Given the description of an element on the screen output the (x, y) to click on. 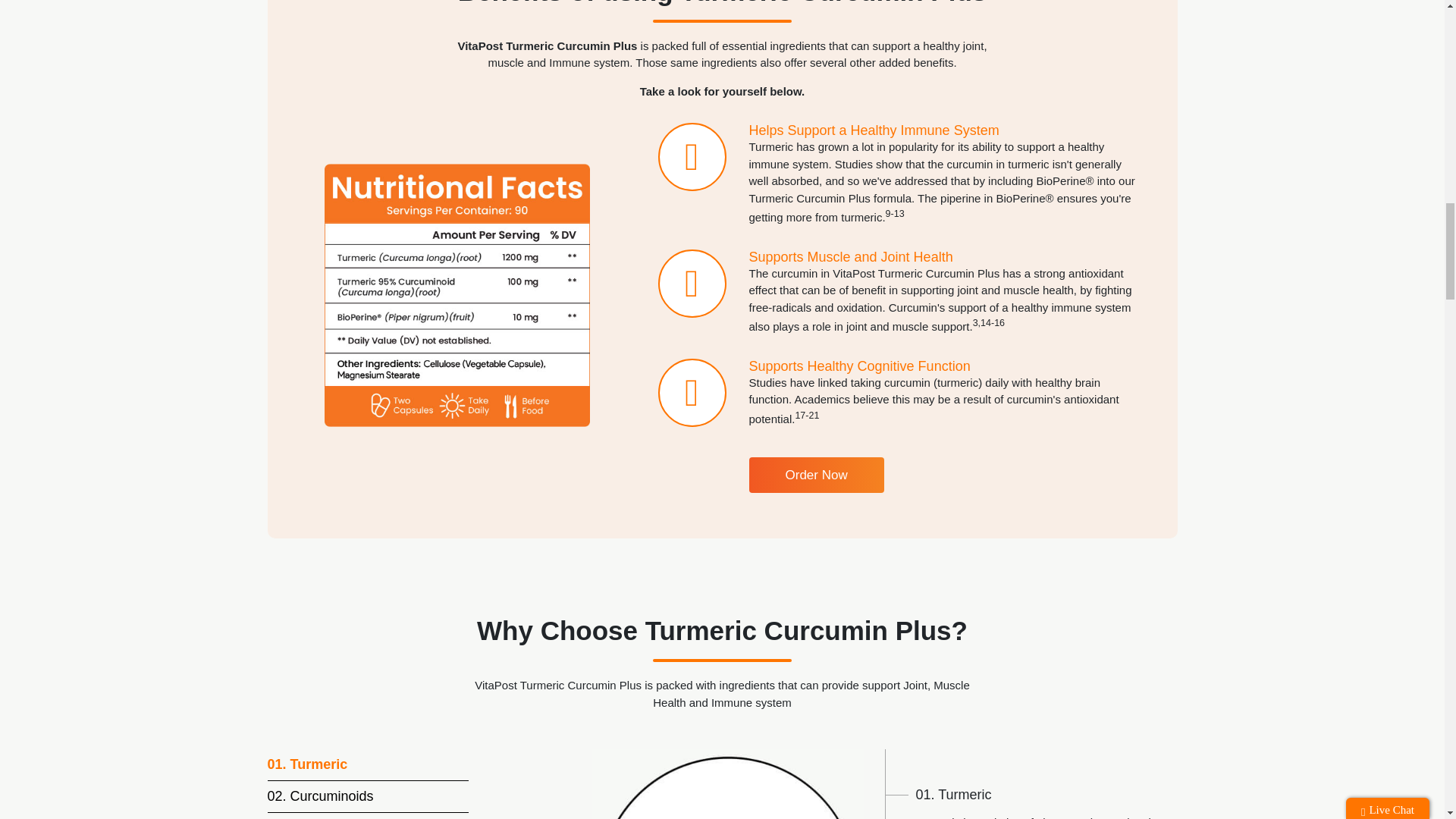
Order Now (816, 474)
